Given the description of an element on the screen output the (x, y) to click on. 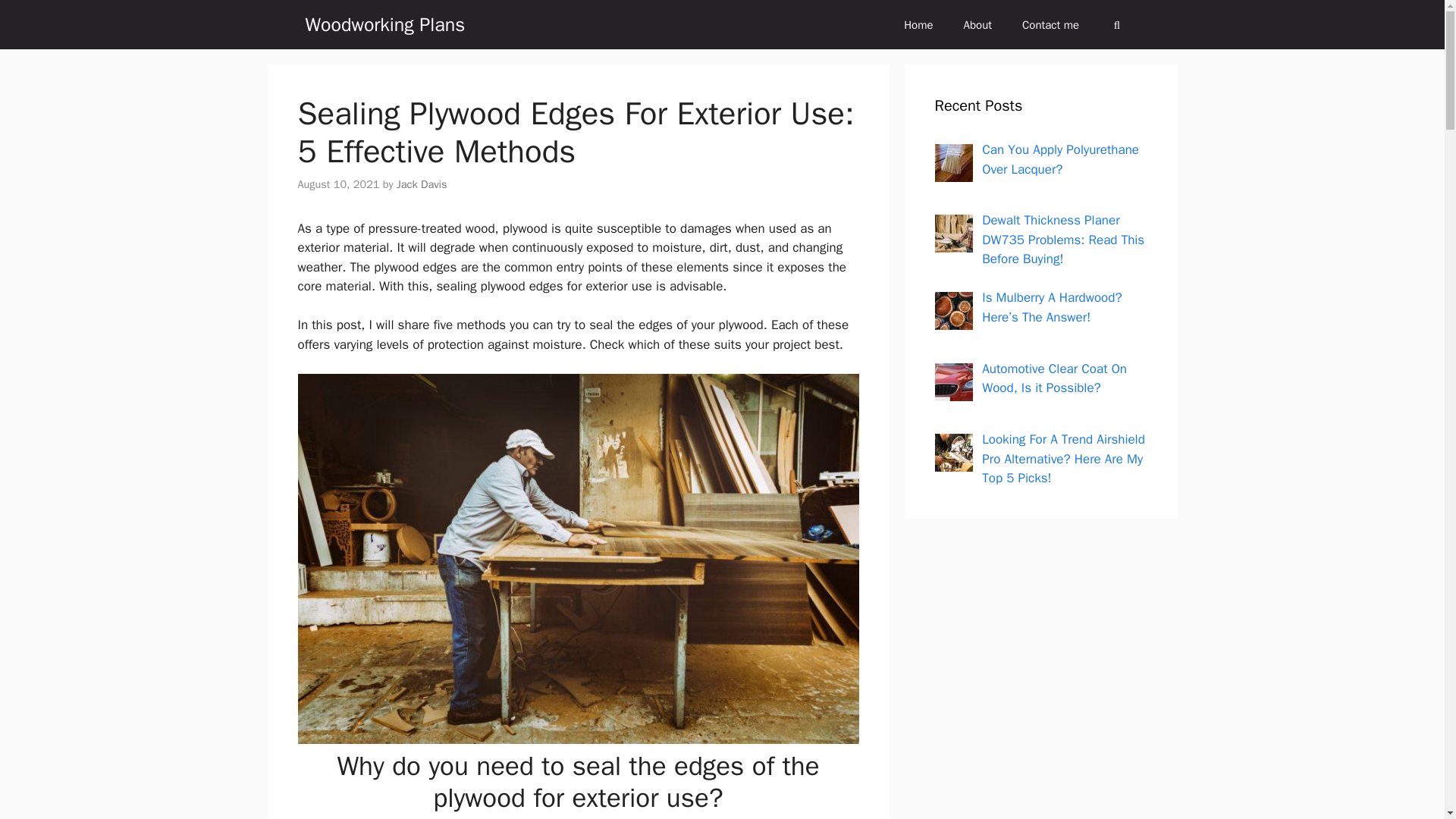
Jack Davis (421, 183)
View all posts by Jack Davis (421, 183)
About (978, 23)
Woodworking Plans (384, 24)
Contact me (1050, 23)
Home (917, 23)
Can You Apply Polyurethane Over Lacquer? (1059, 159)
Automotive Clear Coat On Wood, Is it Possible? (1053, 378)
